Given the description of an element on the screen output the (x, y) to click on. 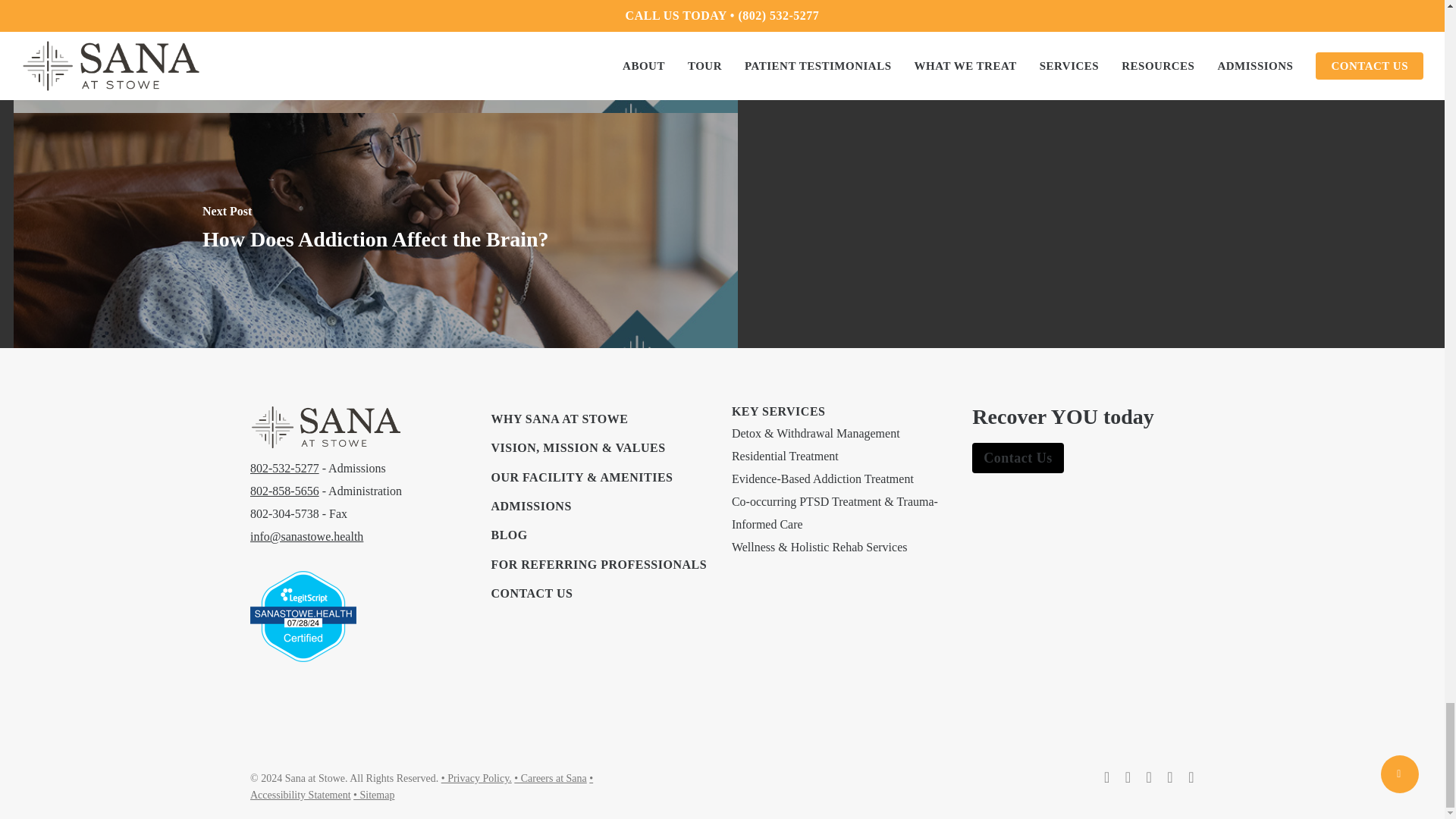
Verify LegitScript Approval (303, 668)
